Given the description of an element on the screen output the (x, y) to click on. 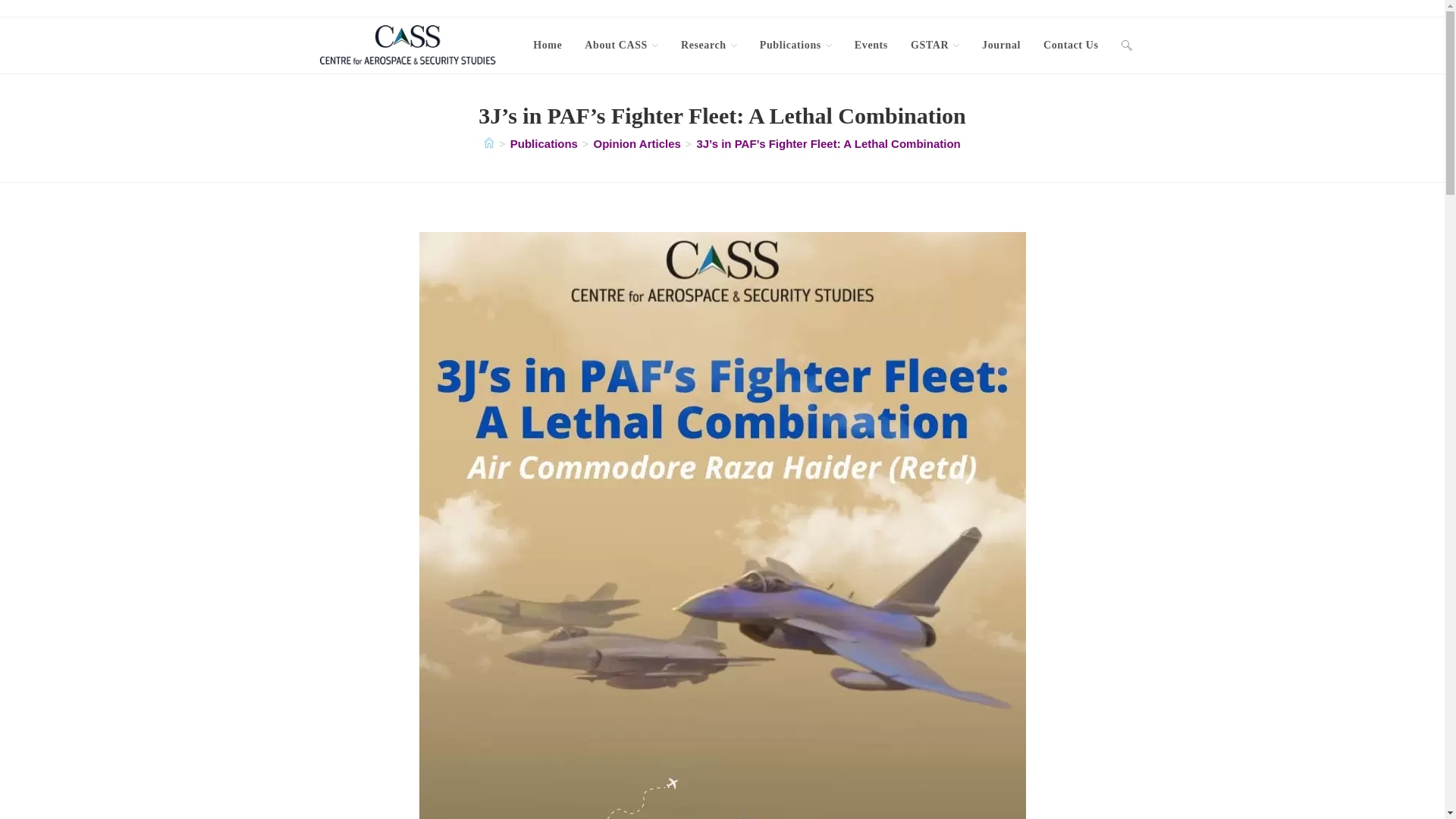
Research (708, 45)
Home (547, 45)
Publications (795, 45)
GSTAR (935, 45)
About CASS (621, 45)
Journal (1001, 45)
Contact Us (1070, 45)
Events (871, 45)
